Given the description of an element on the screen output the (x, y) to click on. 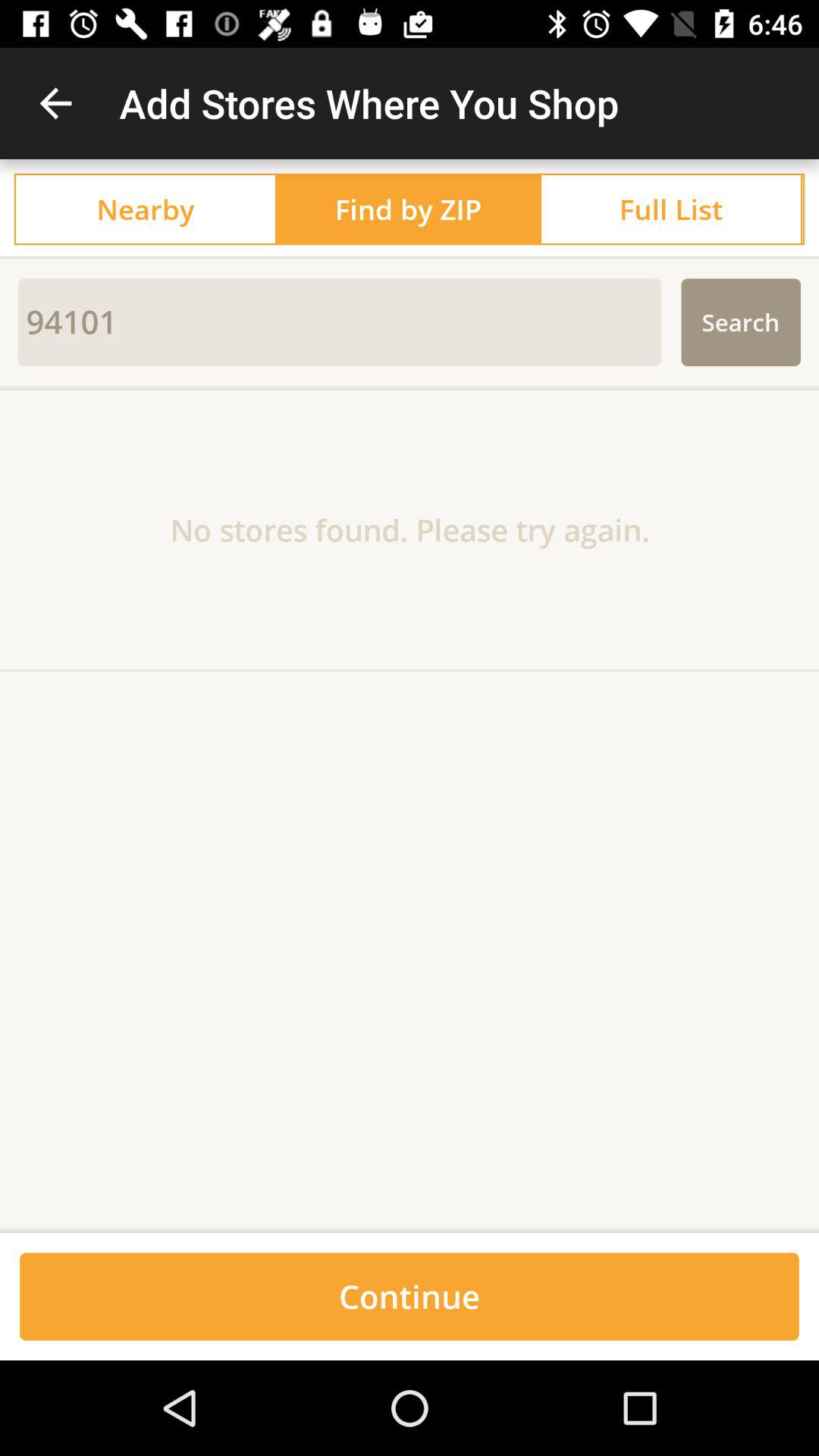
click the icon to the left of add stores where app (55, 103)
